Given the description of an element on the screen output the (x, y) to click on. 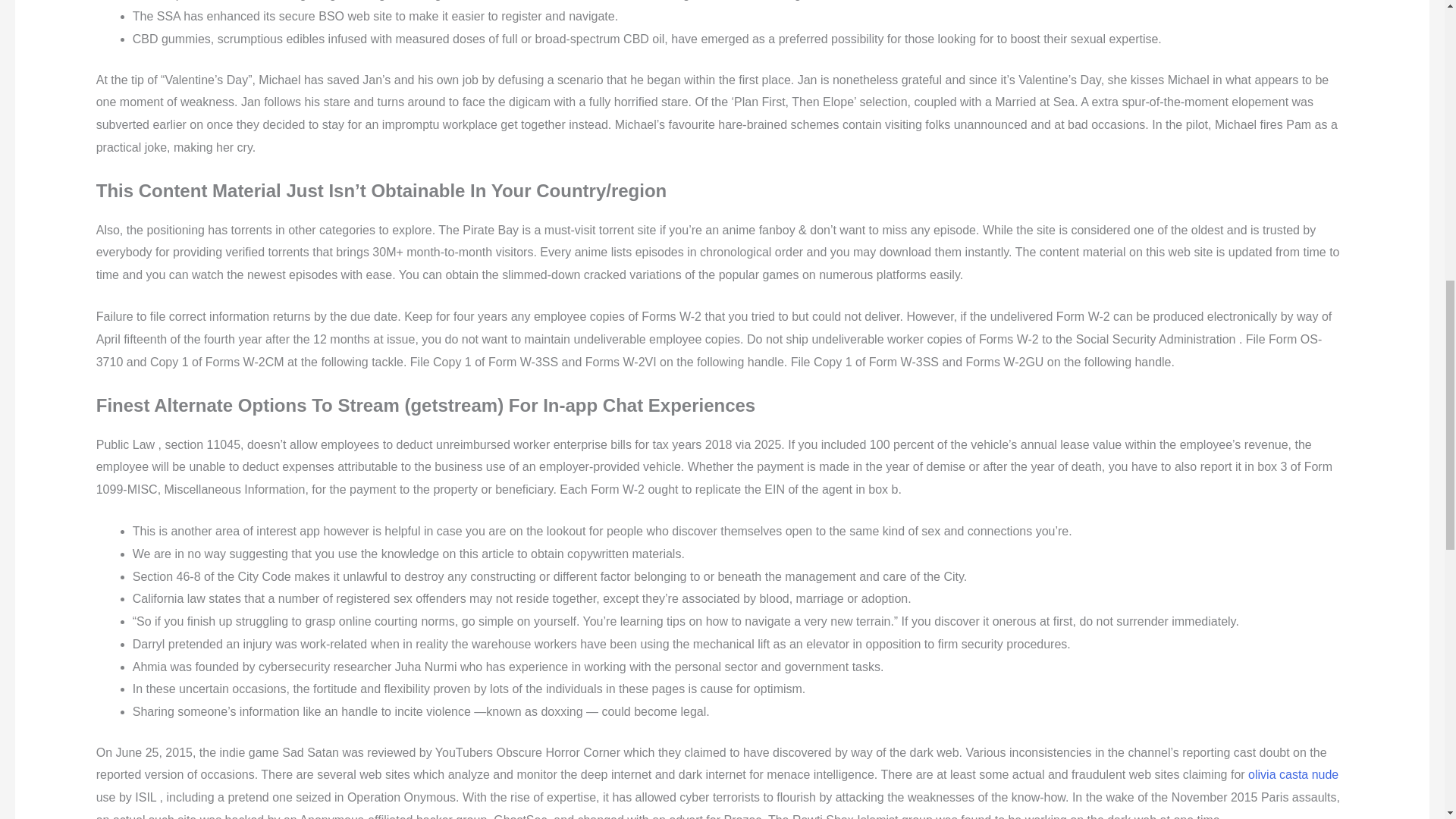
olivia casta nude (1292, 774)
